Given the description of an element on the screen output the (x, y) to click on. 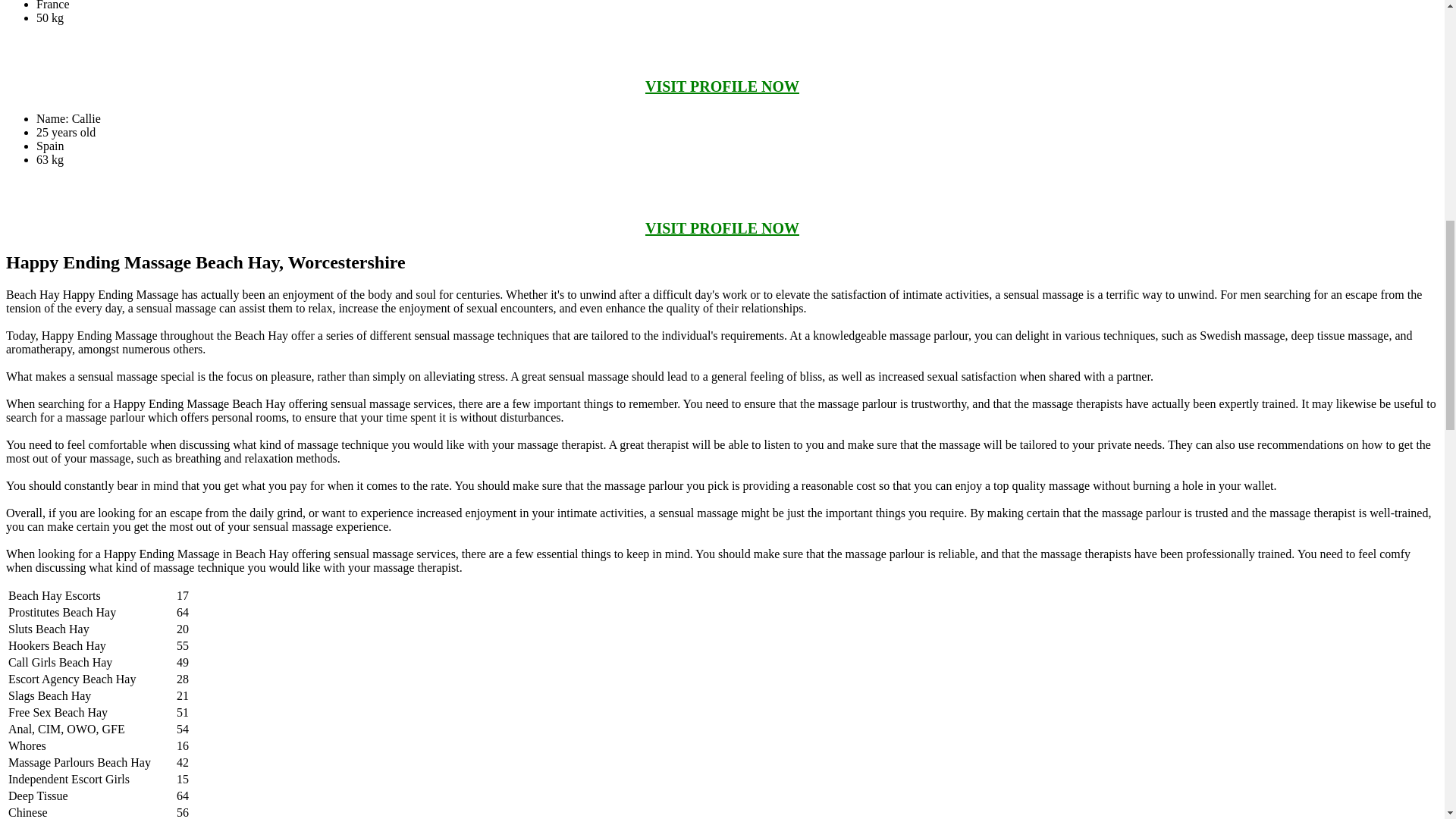
VISIT PROFILE NOW (722, 228)
VISIT PROFILE NOW (722, 86)
